Given the description of an element on the screen output the (x, y) to click on. 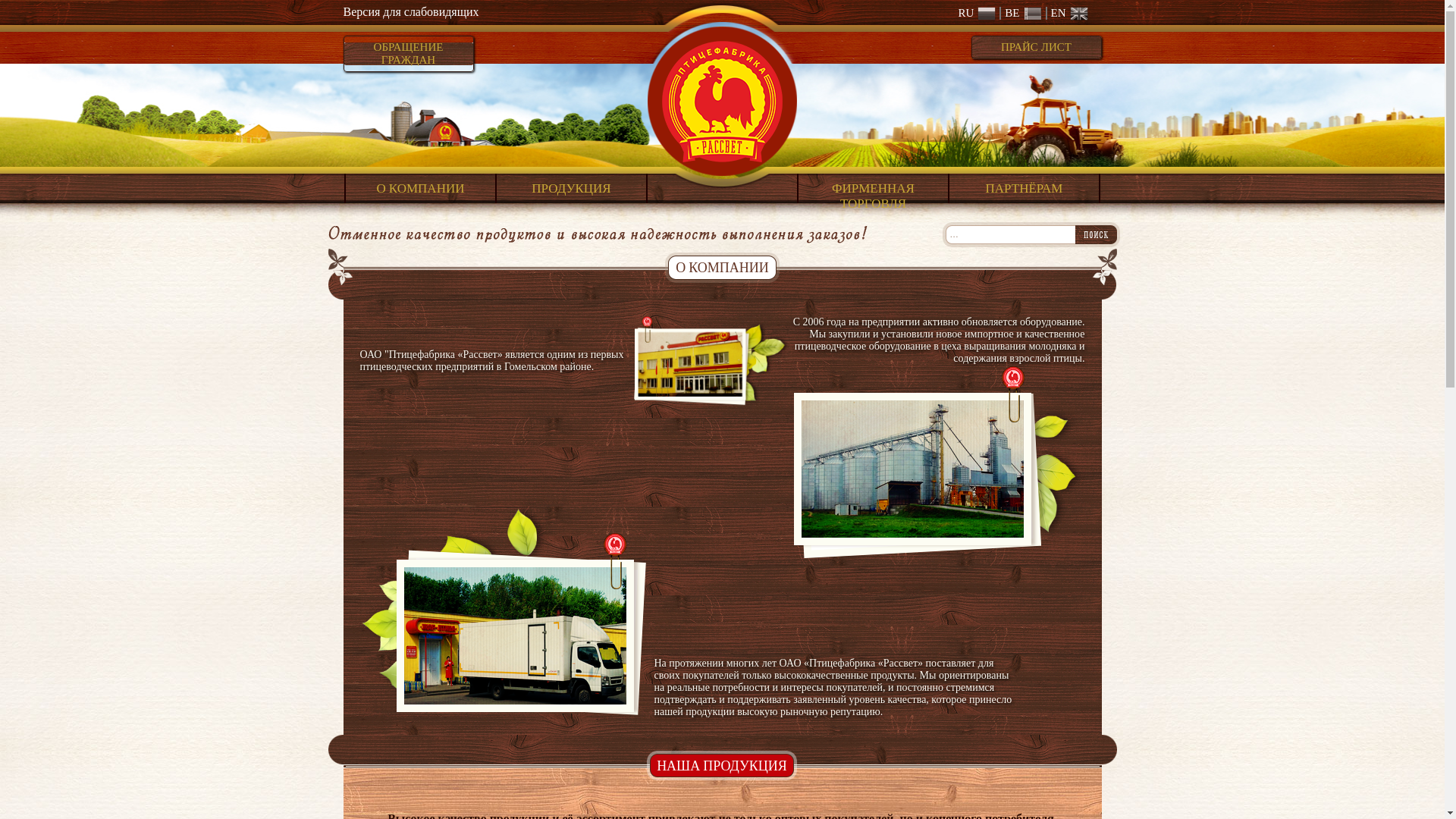
BE Element type: text (1020, 12)
EN Element type: text (1065, 12)
RU Element type: text (976, 12)
